Given the description of an element on the screen output the (x, y) to click on. 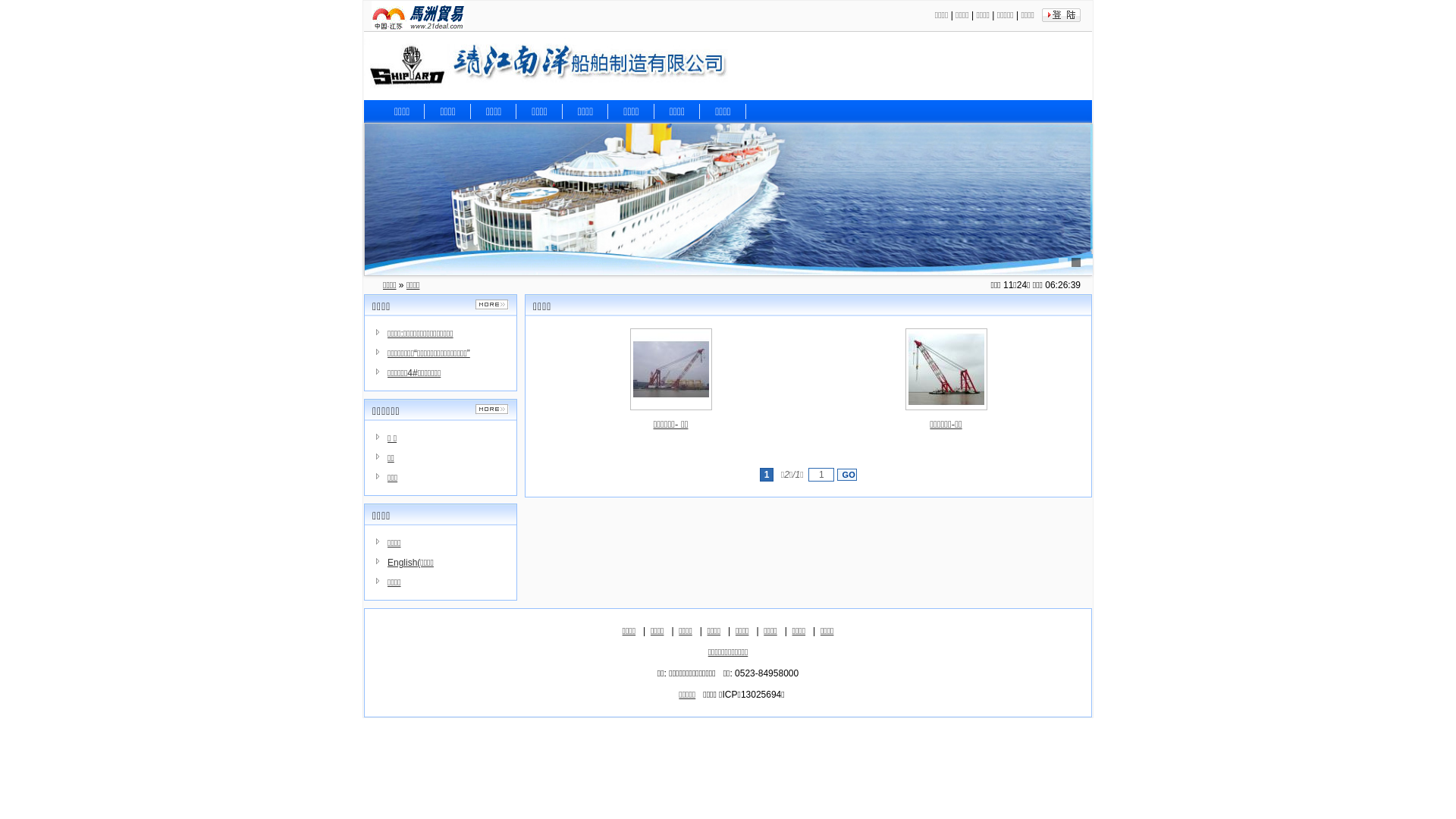
GO Element type: text (846, 474)
